Given the description of an element on the screen output the (x, y) to click on. 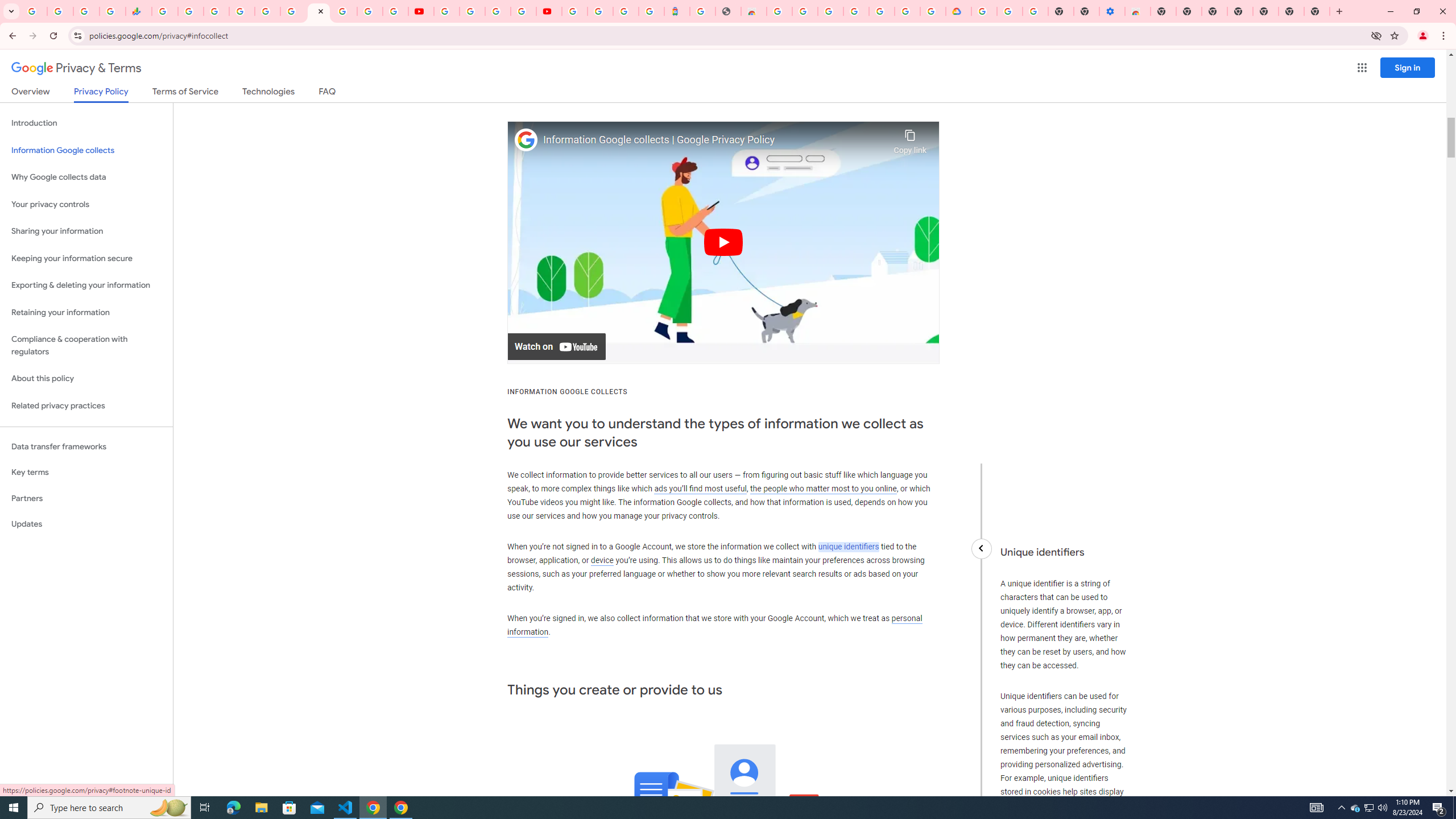
Turn cookies on or off - Computer - Google Account Help (1034, 11)
Google Account Help (1009, 11)
Play (723, 242)
Compliance & cooperation with regulators (86, 345)
Sign in - Google Accounts (242, 11)
